Given the description of an element on the screen output the (x, y) to click on. 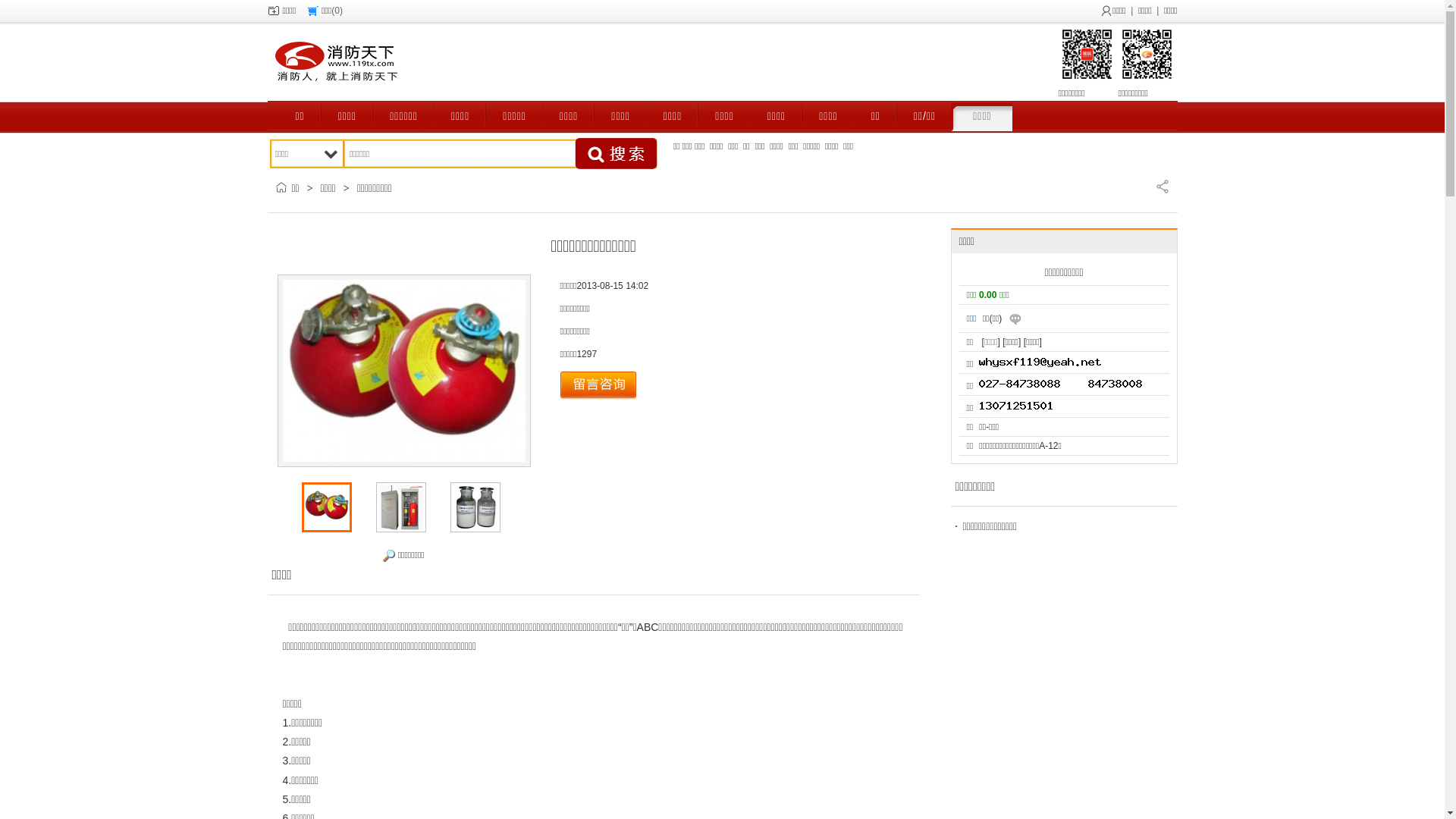
  Element type: text (617, 153)
